Given the description of an element on the screen output the (x, y) to click on. 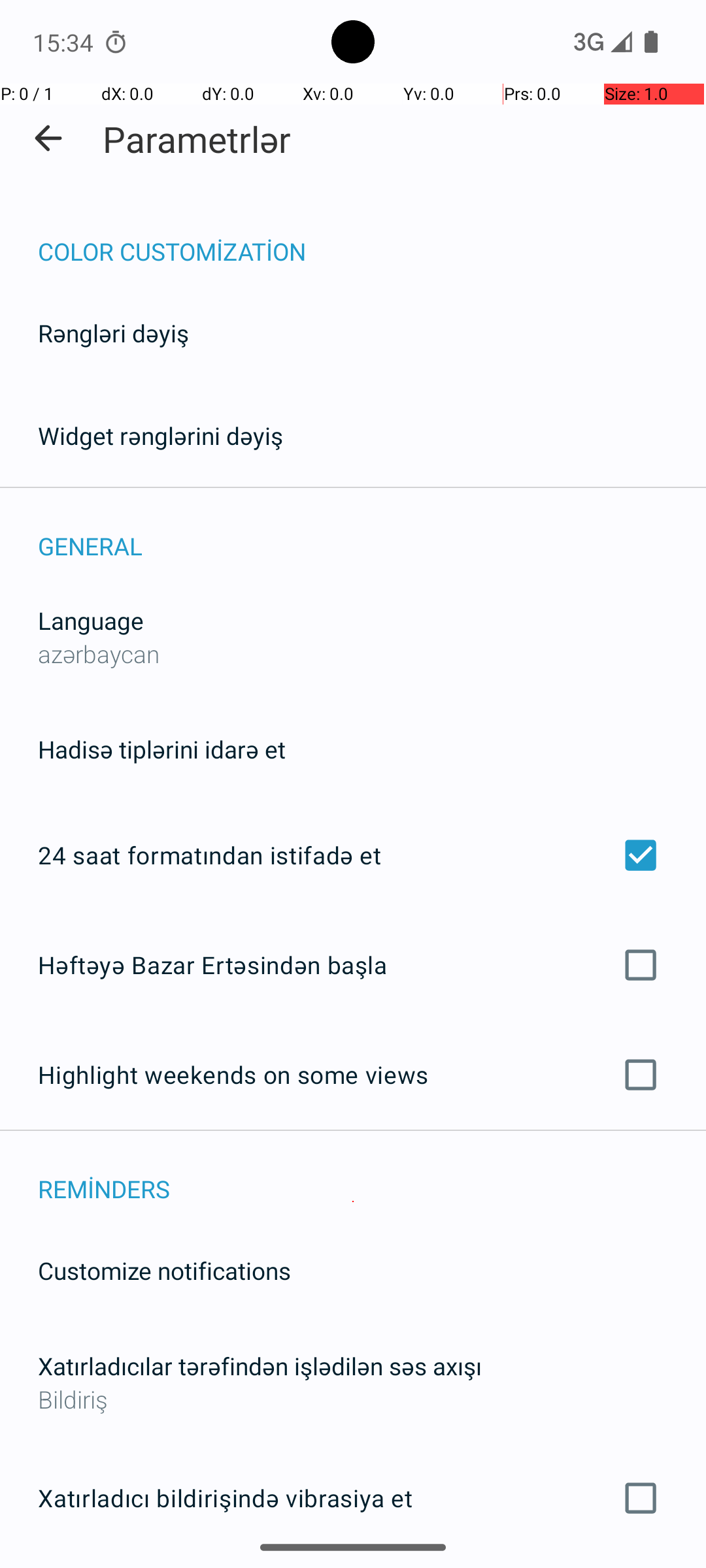
Parametrlər Element type: android.widget.TextView (196, 138)
COLOR CUSTOMİZATİON Element type: android.widget.TextView (371, 237)
REMİNDERS Element type: android.widget.TextView (371, 1174)
Rəngləri dəyiş Element type: android.widget.TextView (112, 332)
Widget rənglərini dəyiş Element type: android.widget.TextView (160, 435)
azərbaycan Element type: android.widget.TextView (98, 653)
Hadisə tiplərini idarə et Element type: android.widget.TextView (161, 748)
24 saat formatından istifadə et Element type: android.widget.CheckBox (352, 855)
Həftəyə Bazar Ertəsindən başla Element type: android.widget.CheckBox (352, 964)
Xatırladıcılar tərəfindən işlədilən səs axışı Element type: android.widget.TextView (259, 1365)
Bildiriş Element type: android.widget.TextView (352, 1398)
Xatırladıcı bildirişində vibrasiya et Element type: android.widget.CheckBox (352, 1497)
Buraxılana qədər xatırladıcıları təkrarla Element type: android.widget.CheckBox (352, 1567)
